Given the description of an element on the screen output the (x, y) to click on. 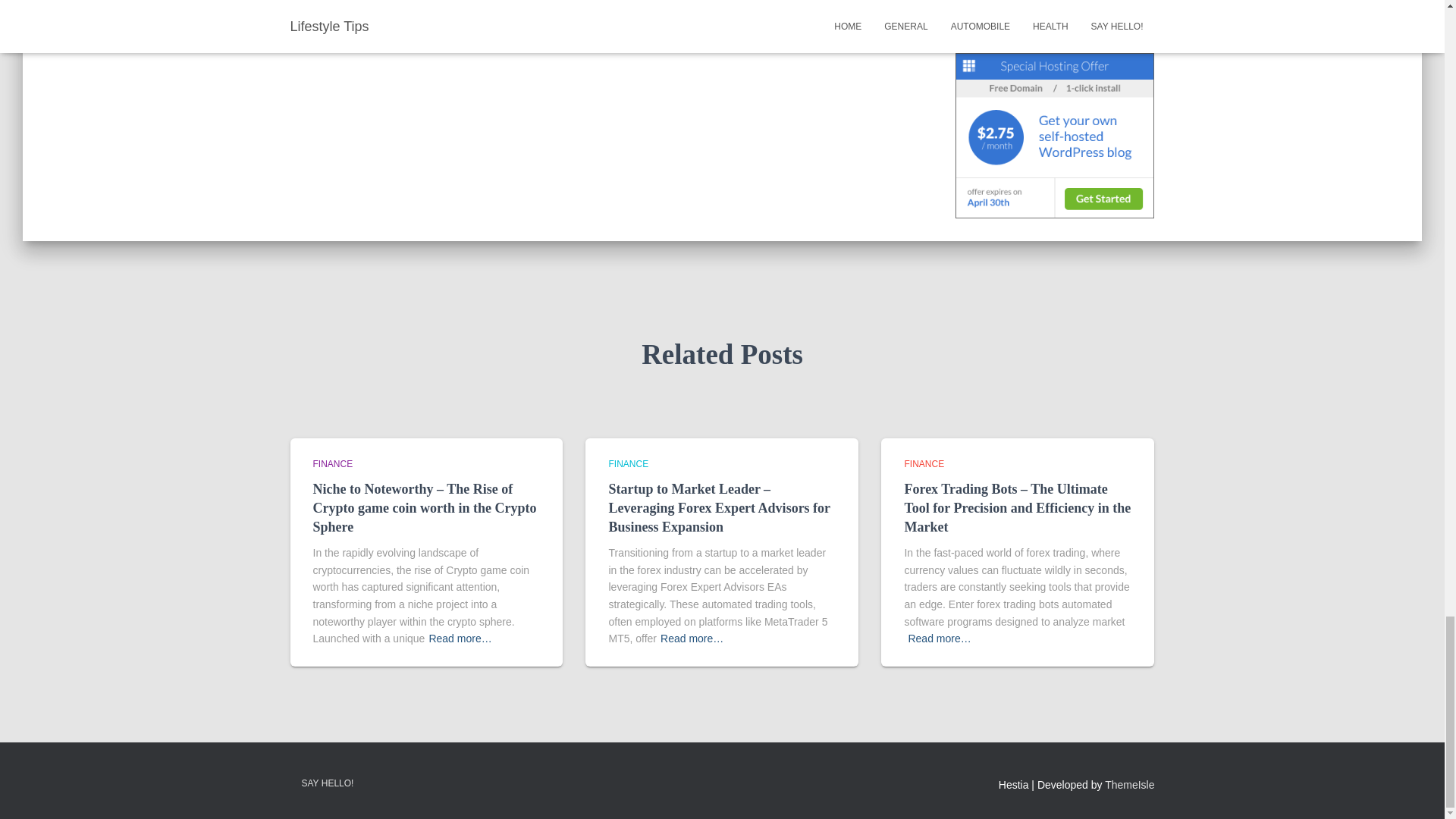
View all posts in Finance (627, 463)
View all posts in Finance (923, 463)
View all posts in Finance (332, 463)
